Given the description of an element on the screen output the (x, y) to click on. 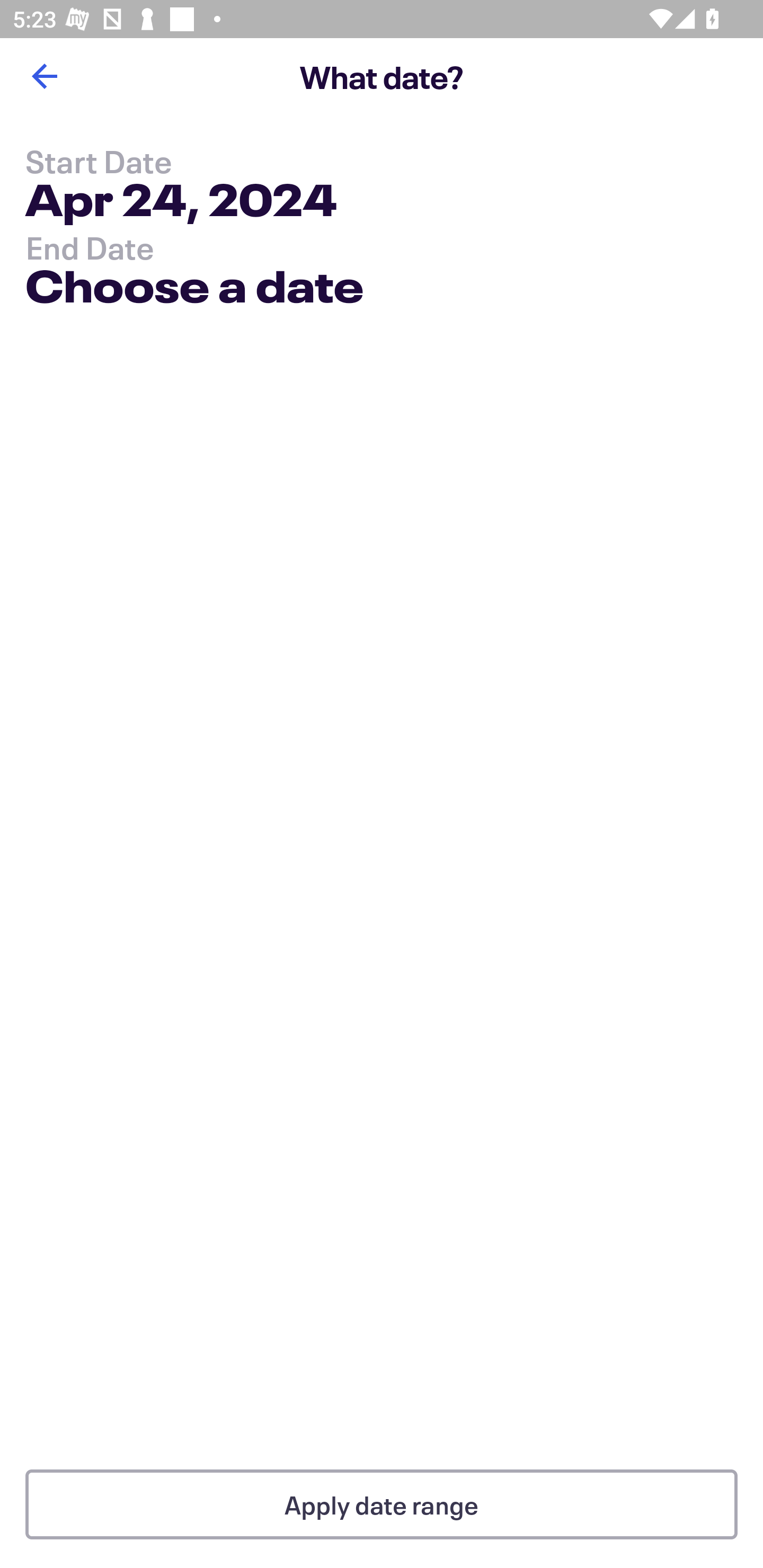
Back button (44, 75)
Apr 24, 2024 (181, 203)
Choose a date (194, 289)
Apply date range (381, 1504)
